Given the description of an element on the screen output the (x, y) to click on. 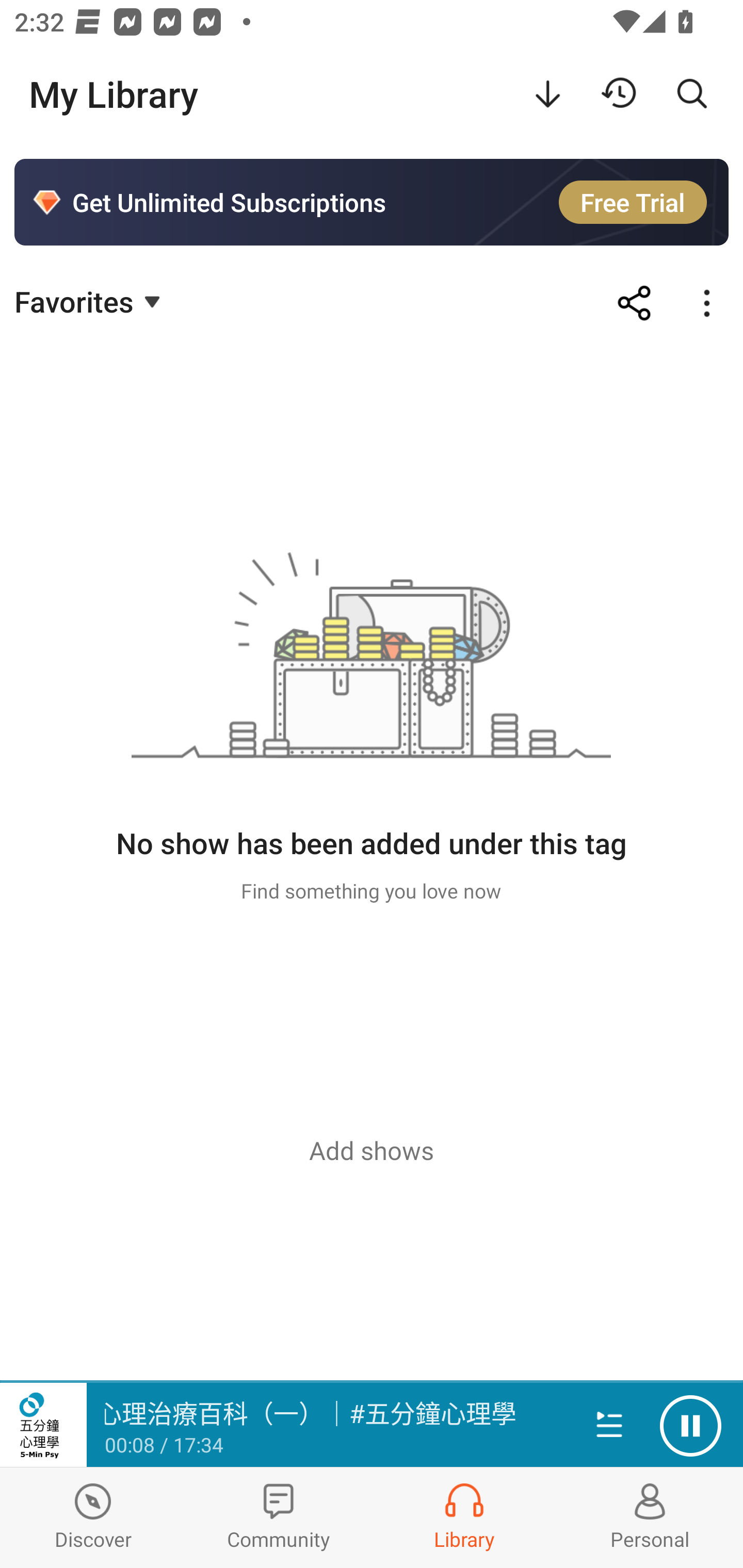
Get Unlimited Subscriptions Free Trial (371, 202)
Free Trial (632, 202)
Favorites (90, 300)
Add shows (371, 1150)
Pause (690, 1425)
Discover (92, 1517)
Community (278, 1517)
Library (464, 1517)
Profiles and Settings Personal (650, 1517)
